Given the description of an element on the screen output the (x, y) to click on. 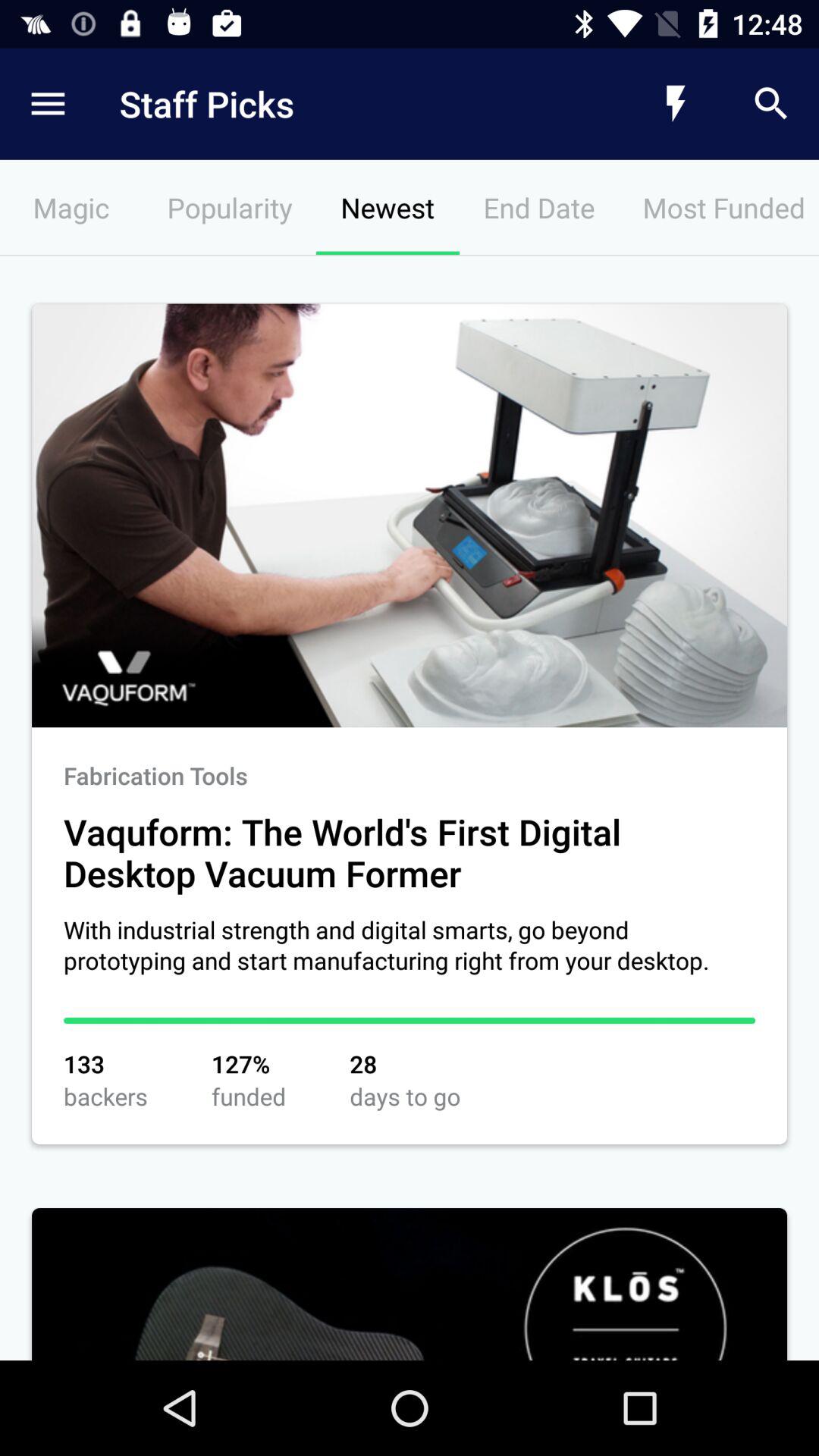
tap the staff picks icon (345, 103)
